Given the description of an element on the screen output the (x, y) to click on. 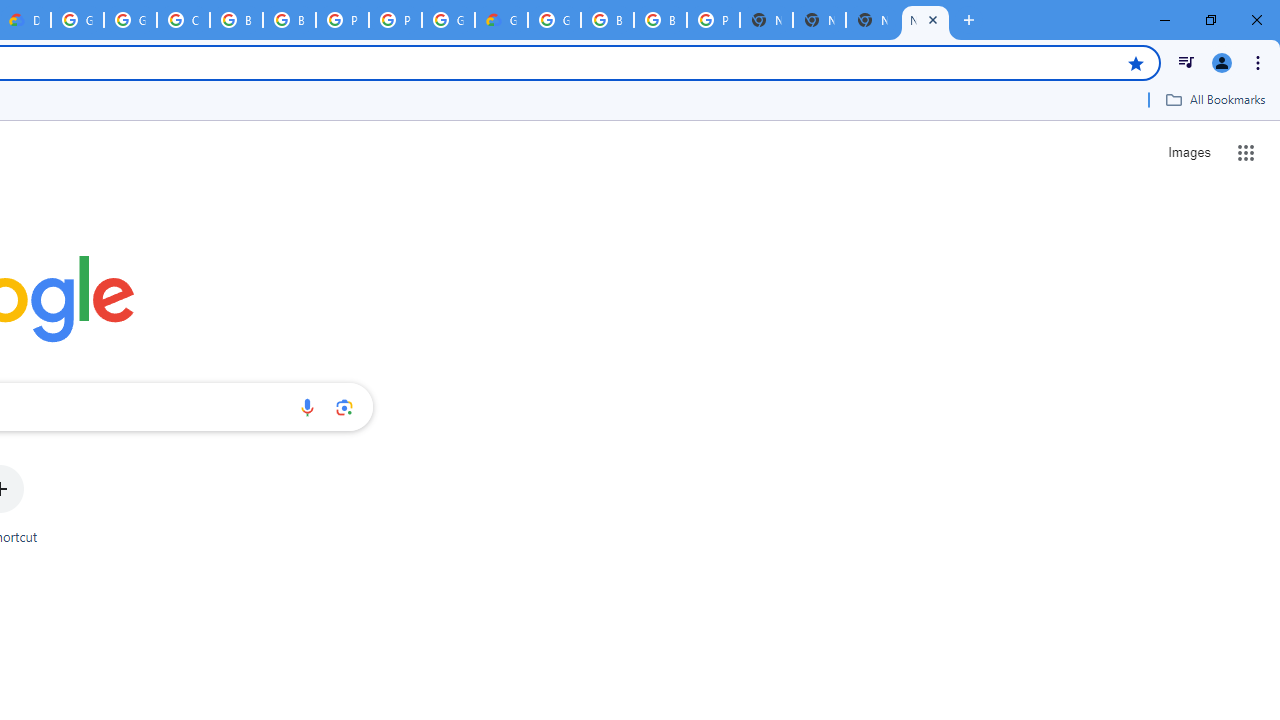
New Tab (925, 20)
Browse Chrome as a guest - Computer - Google Chrome Help (235, 20)
Google Cloud Platform (448, 20)
Google Cloud Estimate Summary (501, 20)
